Given the description of an element on the screen output the (x, y) to click on. 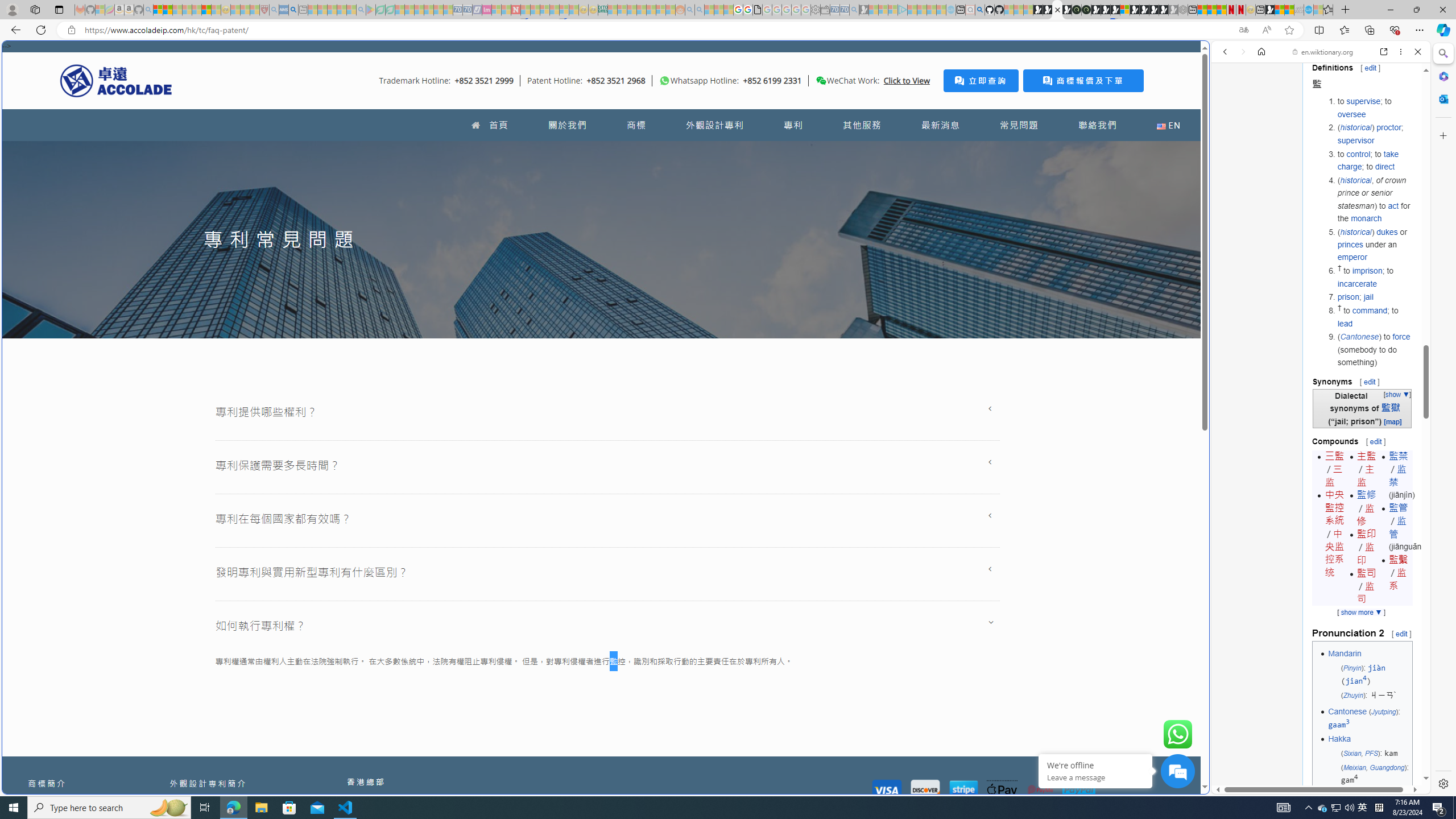
utah sues federal government - Search (292, 9)
Search or enter web address (922, 108)
